Given the description of an element on the screen output the (x, y) to click on. 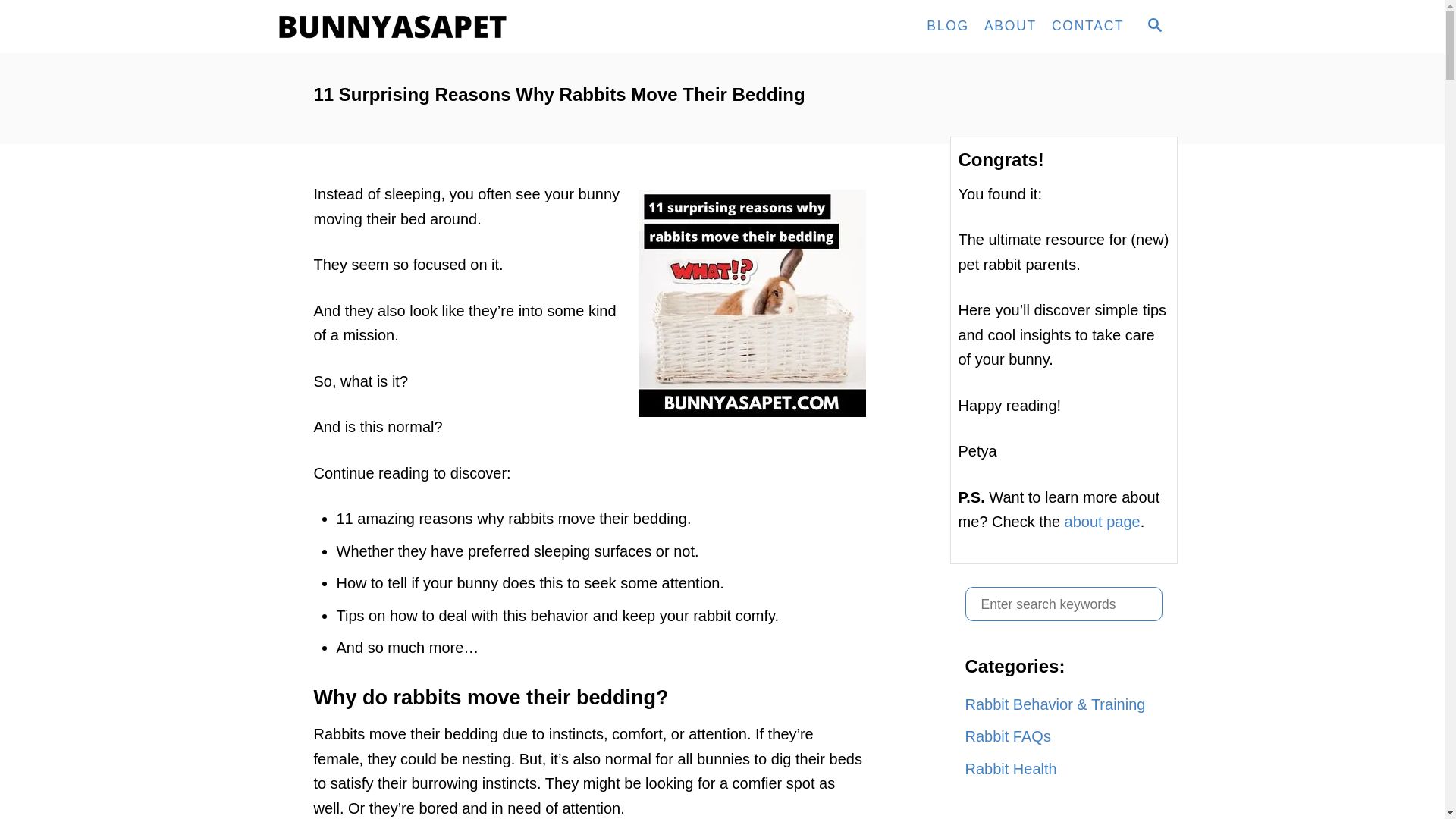
Rabbit Health (1062, 768)
SEARCH (1153, 26)
ABOUT (1009, 26)
about page (1102, 521)
Search for: (1062, 603)
BunnyAsAPet (403, 26)
CONTACT (1087, 26)
Search (22, 22)
BLOG (947, 26)
Rabbit FAQs (1062, 736)
